Given the description of an element on the screen output the (x, y) to click on. 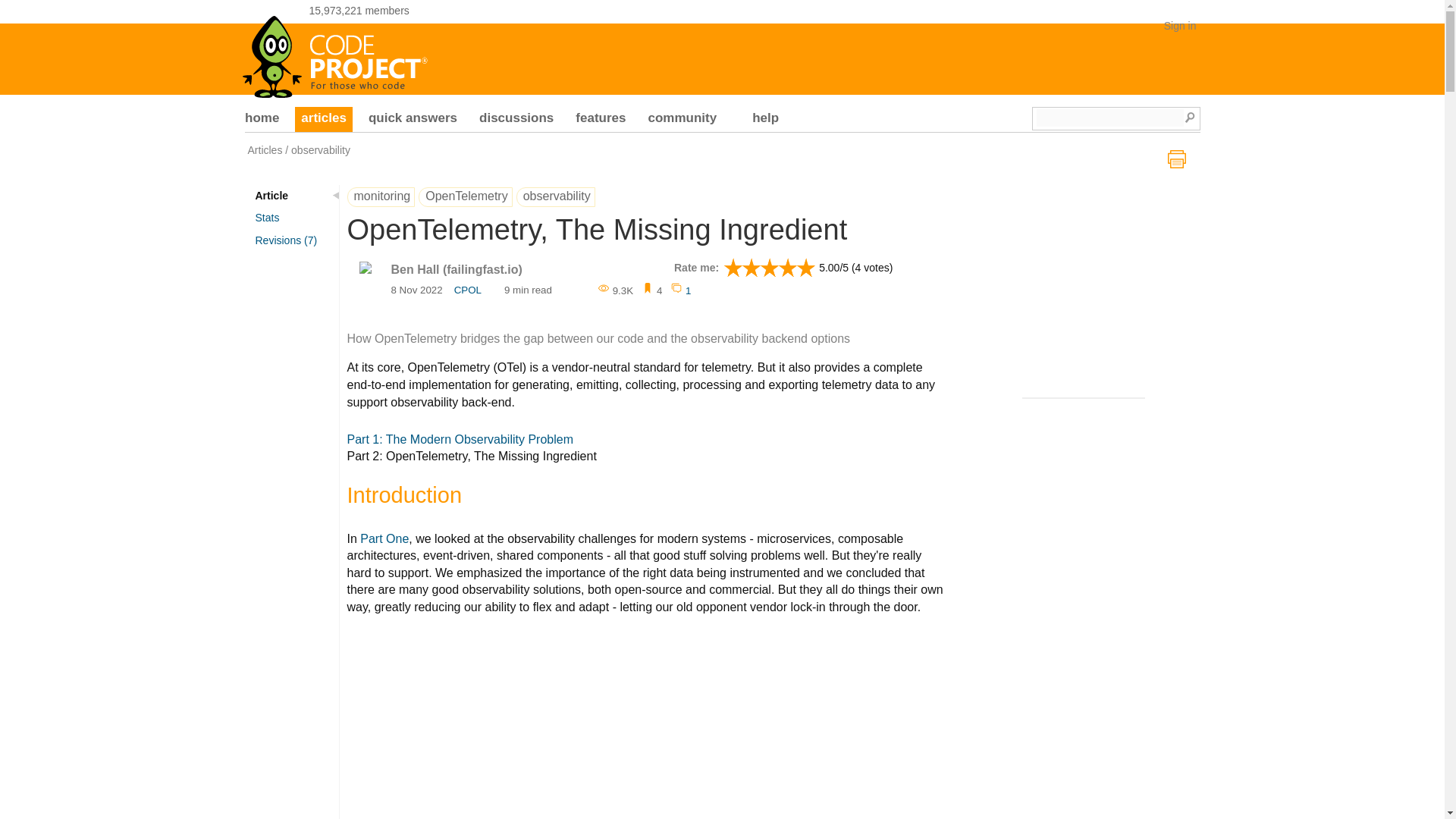
discussions (516, 119)
quick answers (412, 119)
CodeProject (335, 51)
articles (323, 119)
Bookmarks (652, 290)
Sign in (1179, 25)
Comments (679, 290)
Views (614, 290)
Date last updated (416, 290)
home (261, 119)
